Given the description of an element on the screen output the (x, y) to click on. 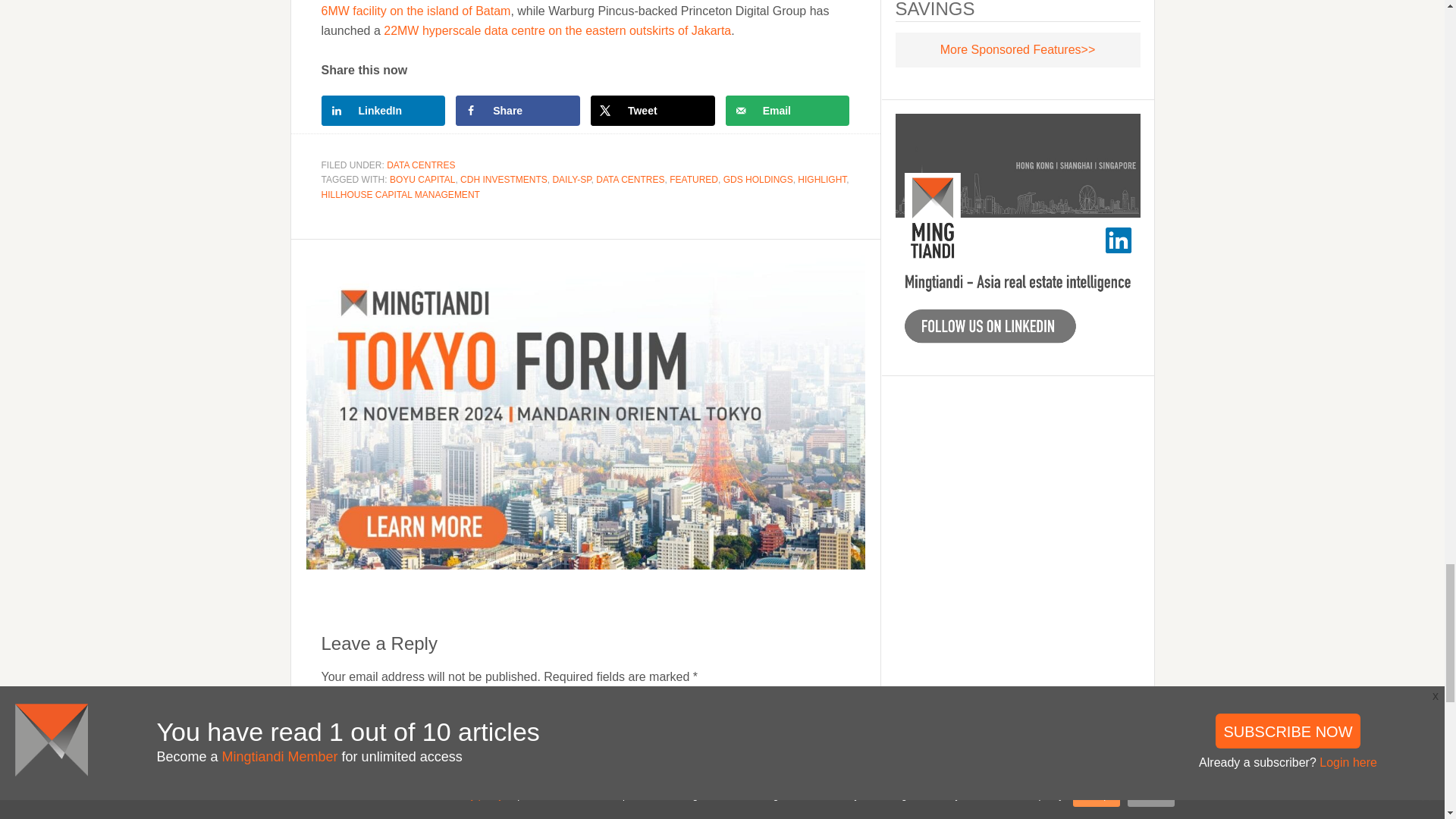
Share on X (652, 110)
Share on LinkedIn (383, 110)
Share on Facebook (517, 110)
Send over email (787, 110)
